Given the description of an element on the screen output the (x, y) to click on. 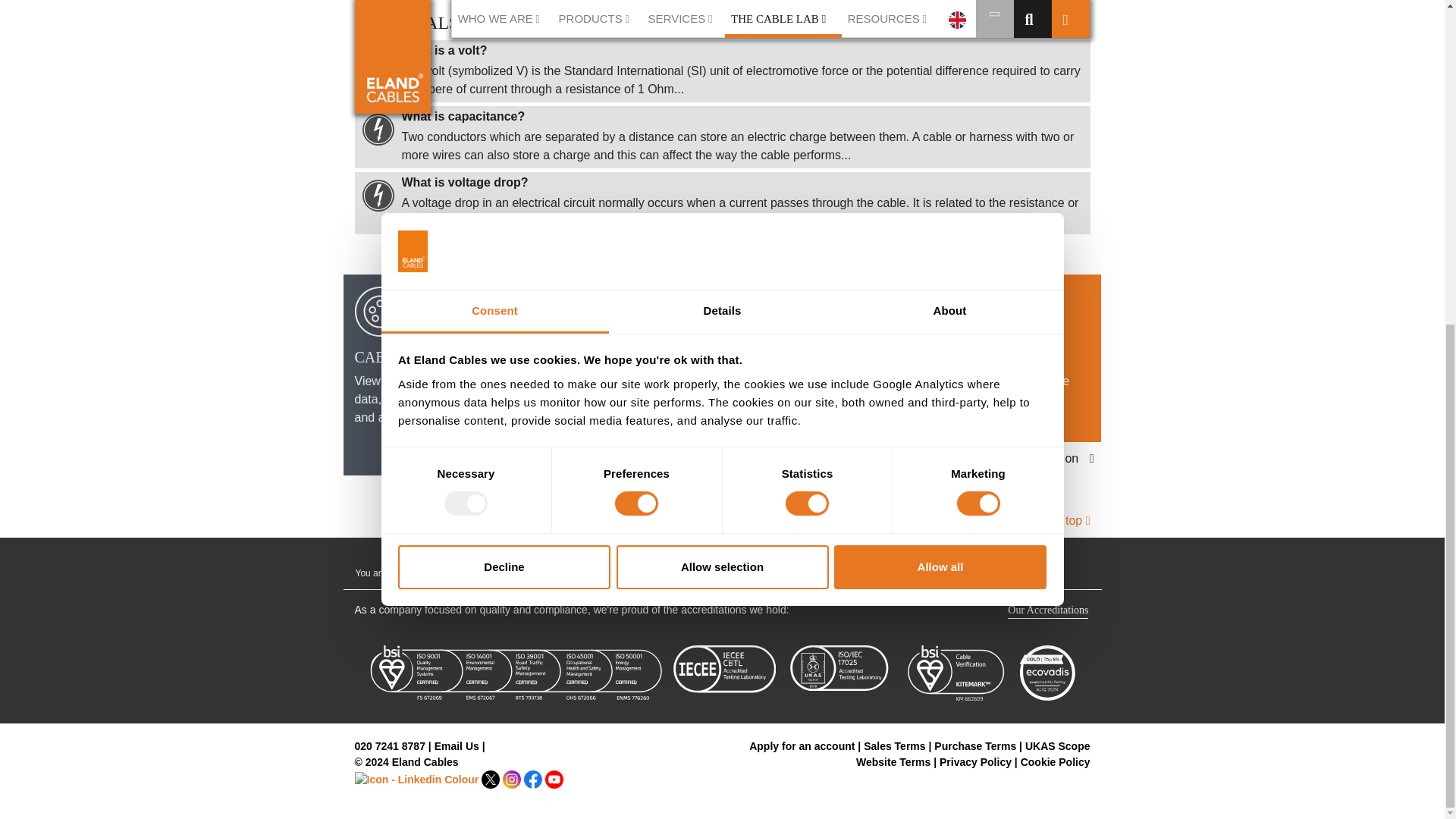
Twitter (491, 778)
Instagram (513, 778)
Decline (503, 35)
Facebook (534, 778)
LinkedIn (418, 778)
Allow all (940, 35)
Allow selection (721, 35)
